Given the description of an element on the screen output the (x, y) to click on. 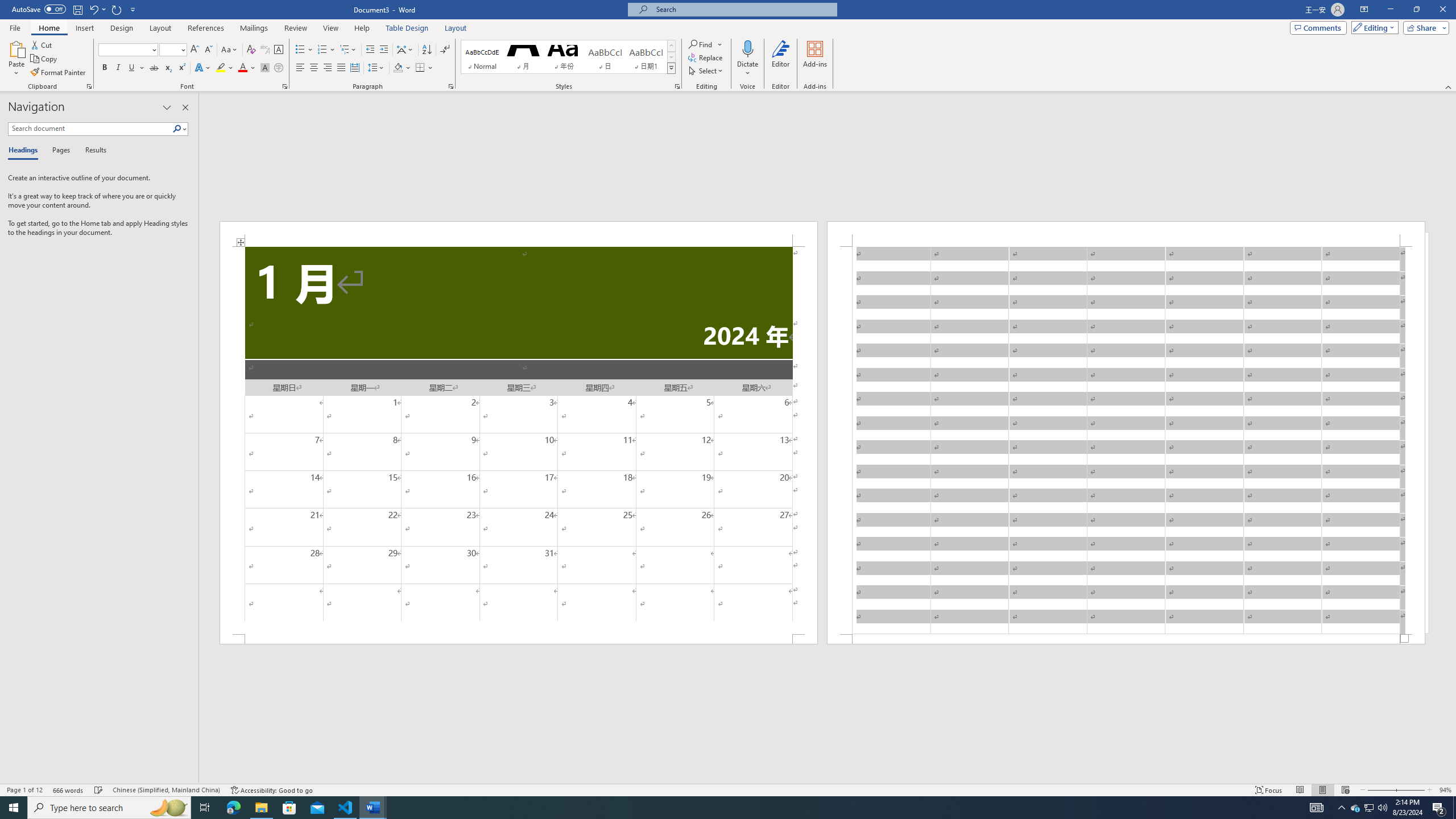
Share (1423, 27)
Styles (670, 67)
Character Border (278, 49)
Mode (1372, 27)
Office Clipboard... (88, 85)
Font... (285, 85)
Clear Formatting (250, 49)
Paste (16, 58)
Shrink Font (208, 49)
Results (91, 150)
Asian Layout (405, 49)
Repeat Doc Close (117, 9)
